Given the description of an element on the screen output the (x, y) to click on. 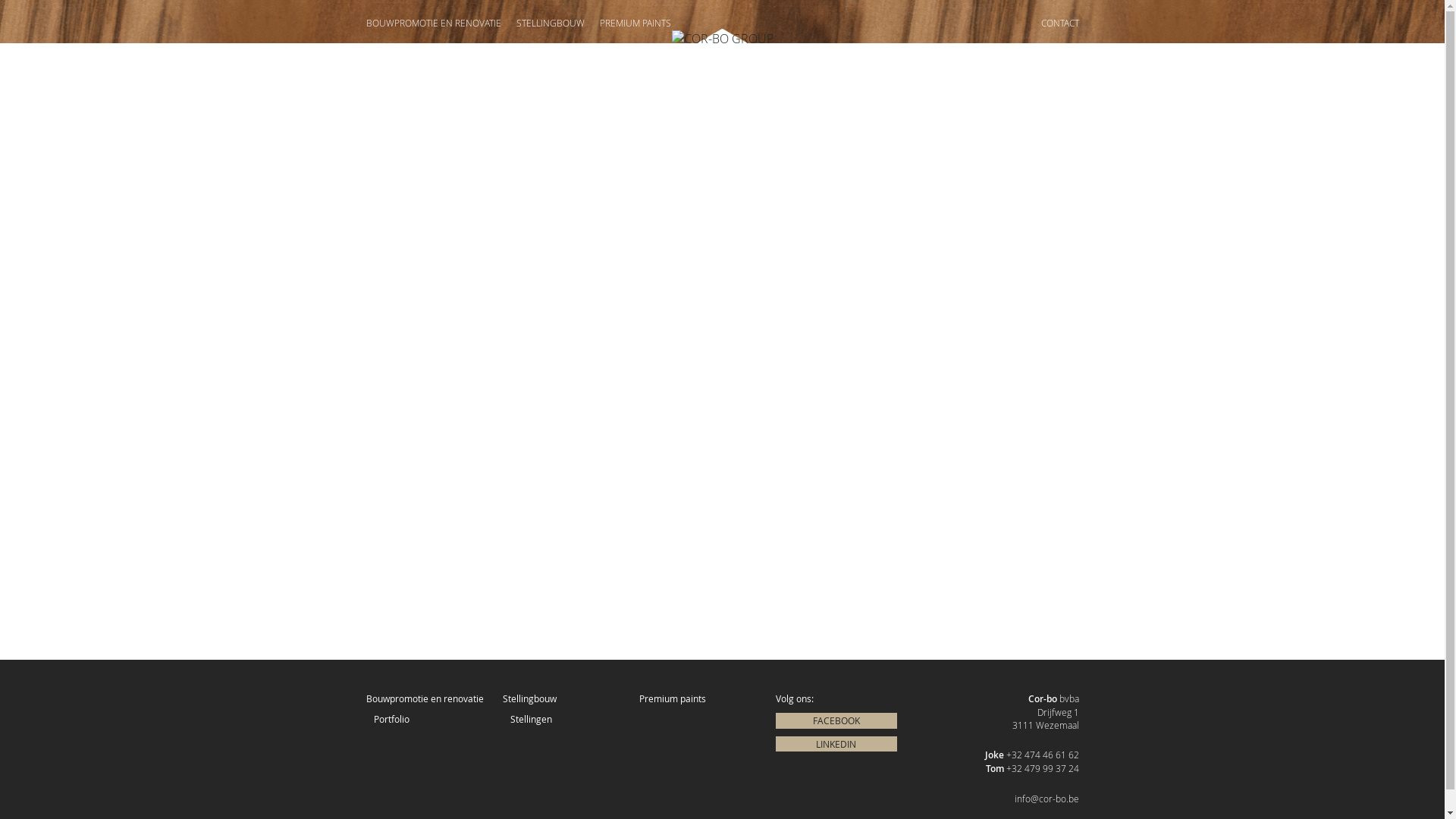
LINKEDIN Element type: text (835, 744)
info@cor-bo.be Element type: text (1046, 798)
FACEBOOK Element type: text (835, 720)
